Given the description of an element on the screen output the (x, y) to click on. 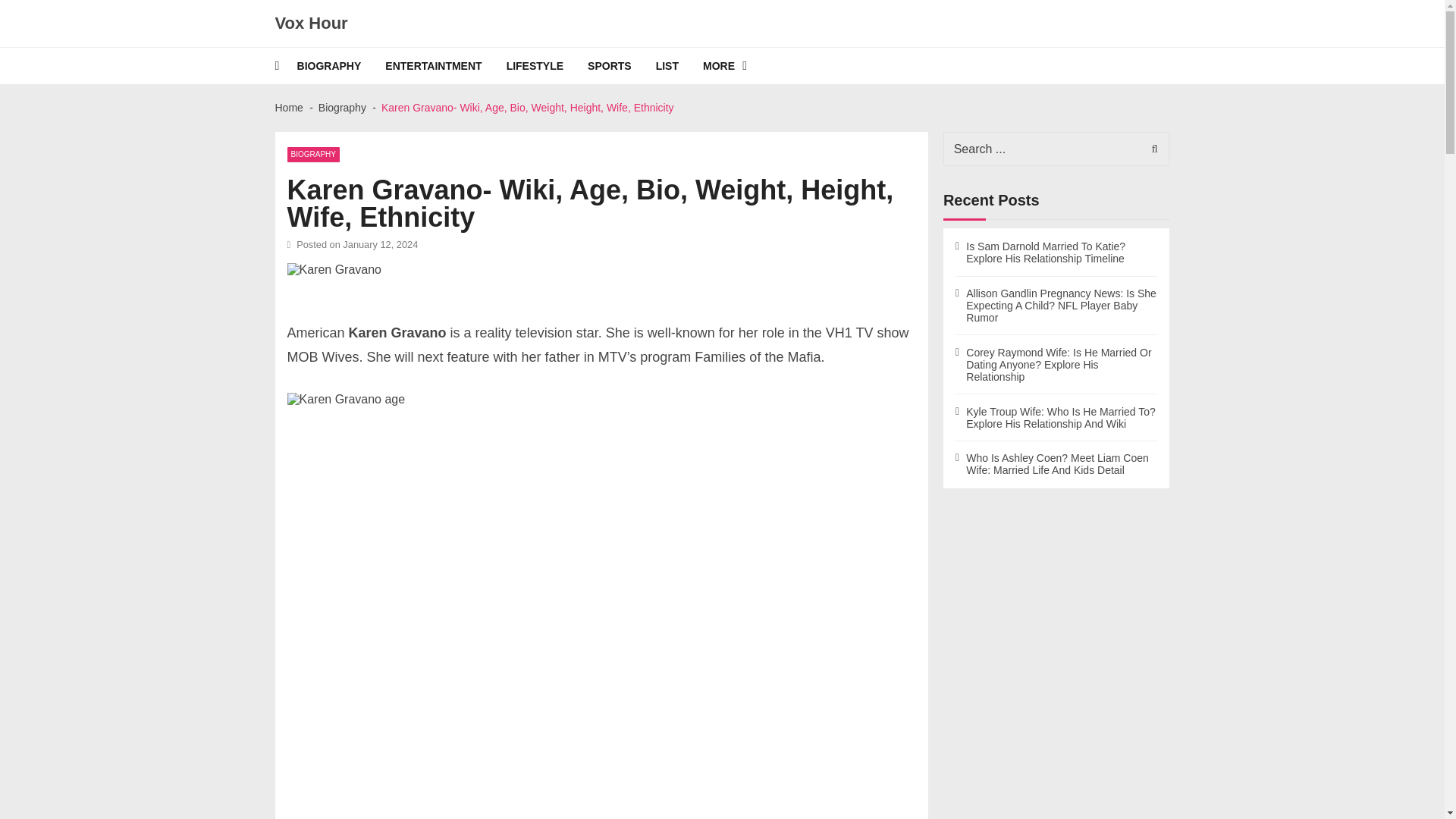
Home (288, 107)
LIFESTYLE (547, 65)
SPORTS (622, 65)
BIOGRAPHY (341, 65)
Vox Hour (311, 23)
BIOGRAPHY (312, 154)
Search (1150, 148)
MORE (737, 65)
Biography (342, 107)
LIST (679, 65)
